Given the description of an element on the screen output the (x, y) to click on. 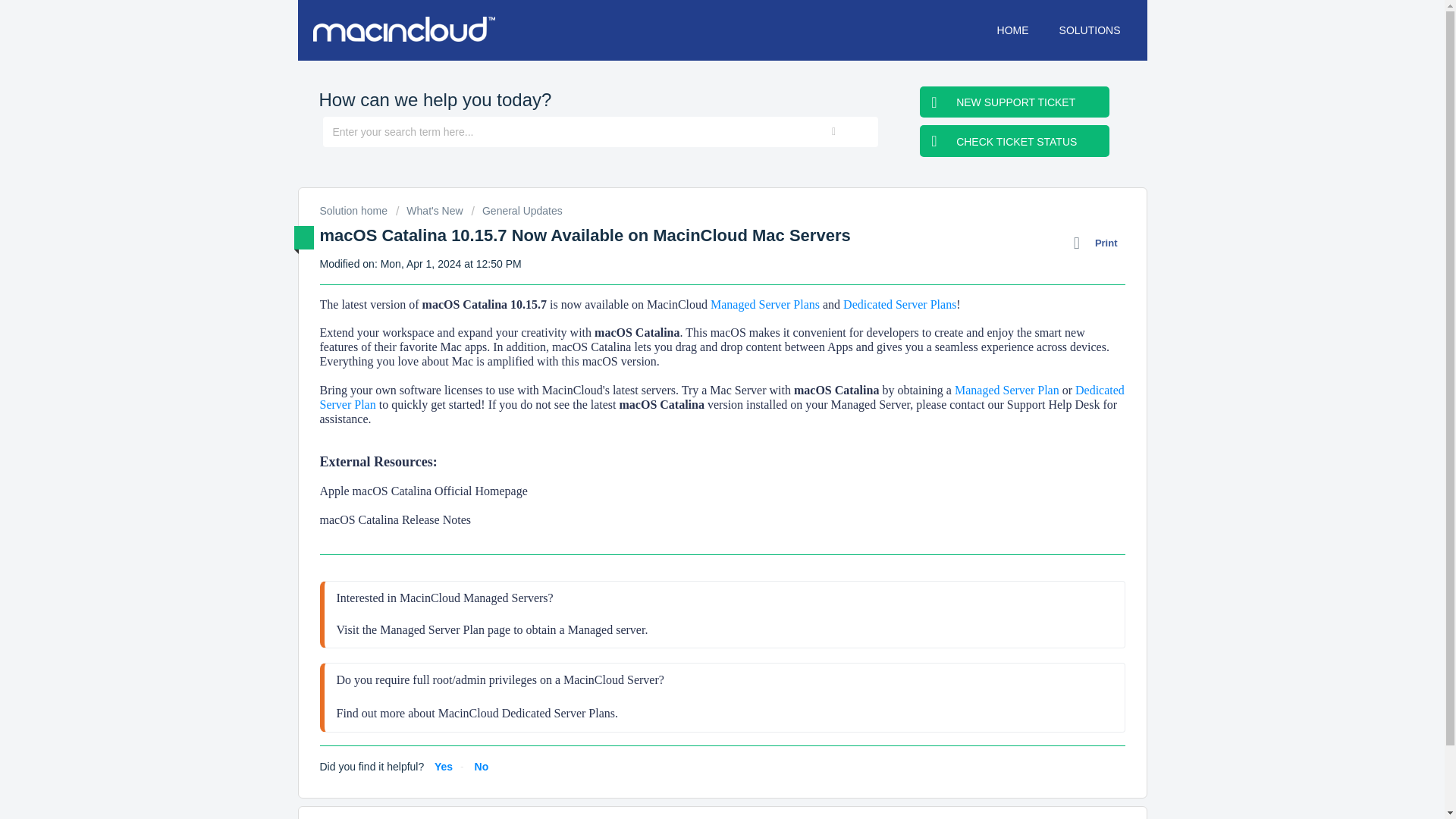
Apple macOS Catalina Official Homepage (423, 490)
Dedicated Server Plans (558, 712)
New support ticket (1014, 101)
General Updates (516, 210)
Dedicated Server Plan (722, 397)
Dedicated Server Plans (899, 304)
HOME (1013, 30)
NEW SUPPORT TICKET (1014, 101)
Managed Server Plans  (766, 304)
Print this Article (1099, 243)
